Given the description of an element on the screen output the (x, y) to click on. 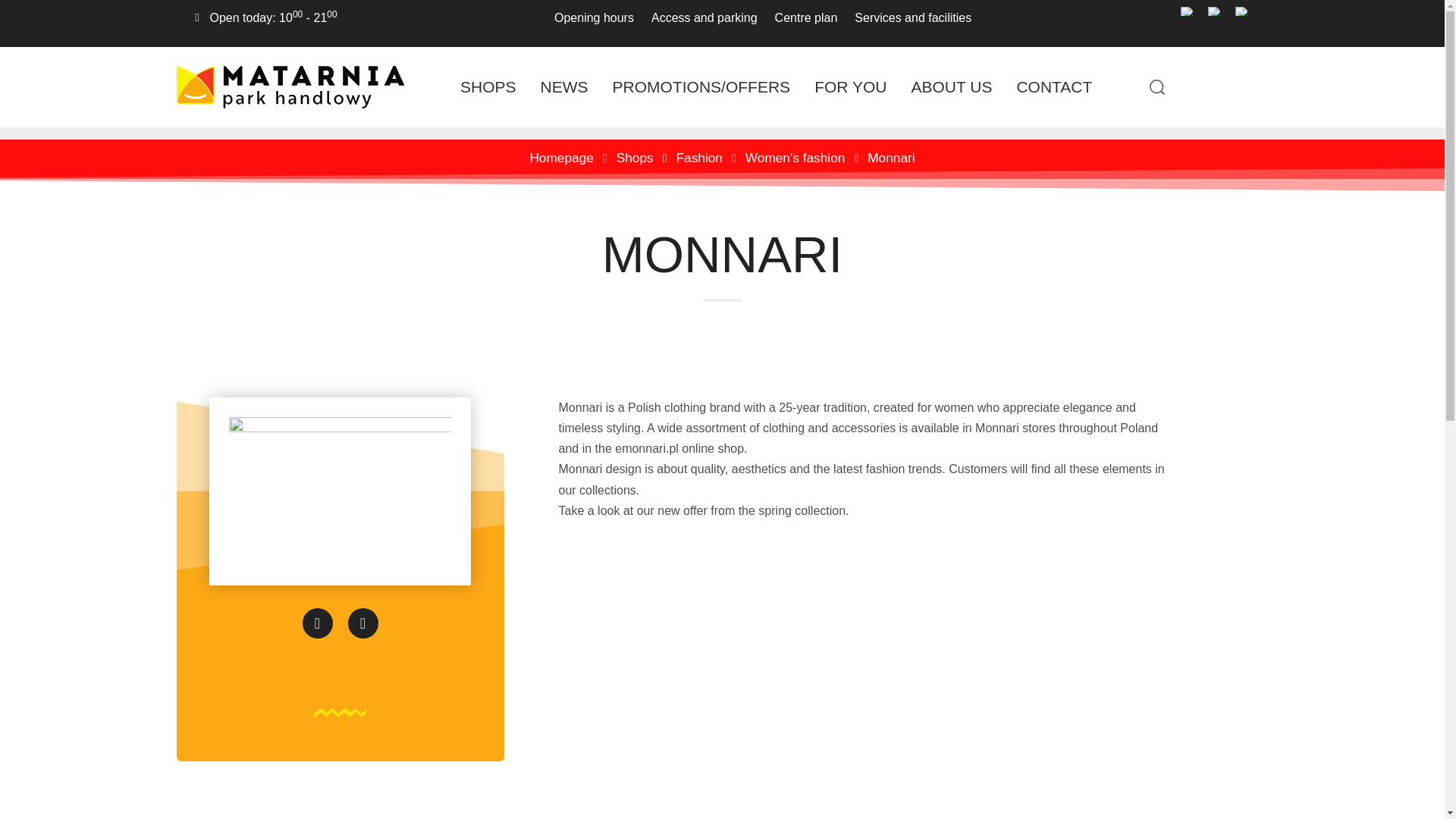
Open today: 1000 - 2100 (272, 17)
Ukrainian (1241, 10)
FOR YOU (849, 86)
Services and facilities (907, 17)
Polish (1186, 10)
English (1214, 10)
Access and parking (698, 17)
NEWS (564, 86)
ABOUT US (951, 86)
SHOPS (488, 86)
CONTACT (1054, 86)
Centre plan (800, 17)
Opening hours (588, 17)
